Given the description of an element on the screen output the (x, y) to click on. 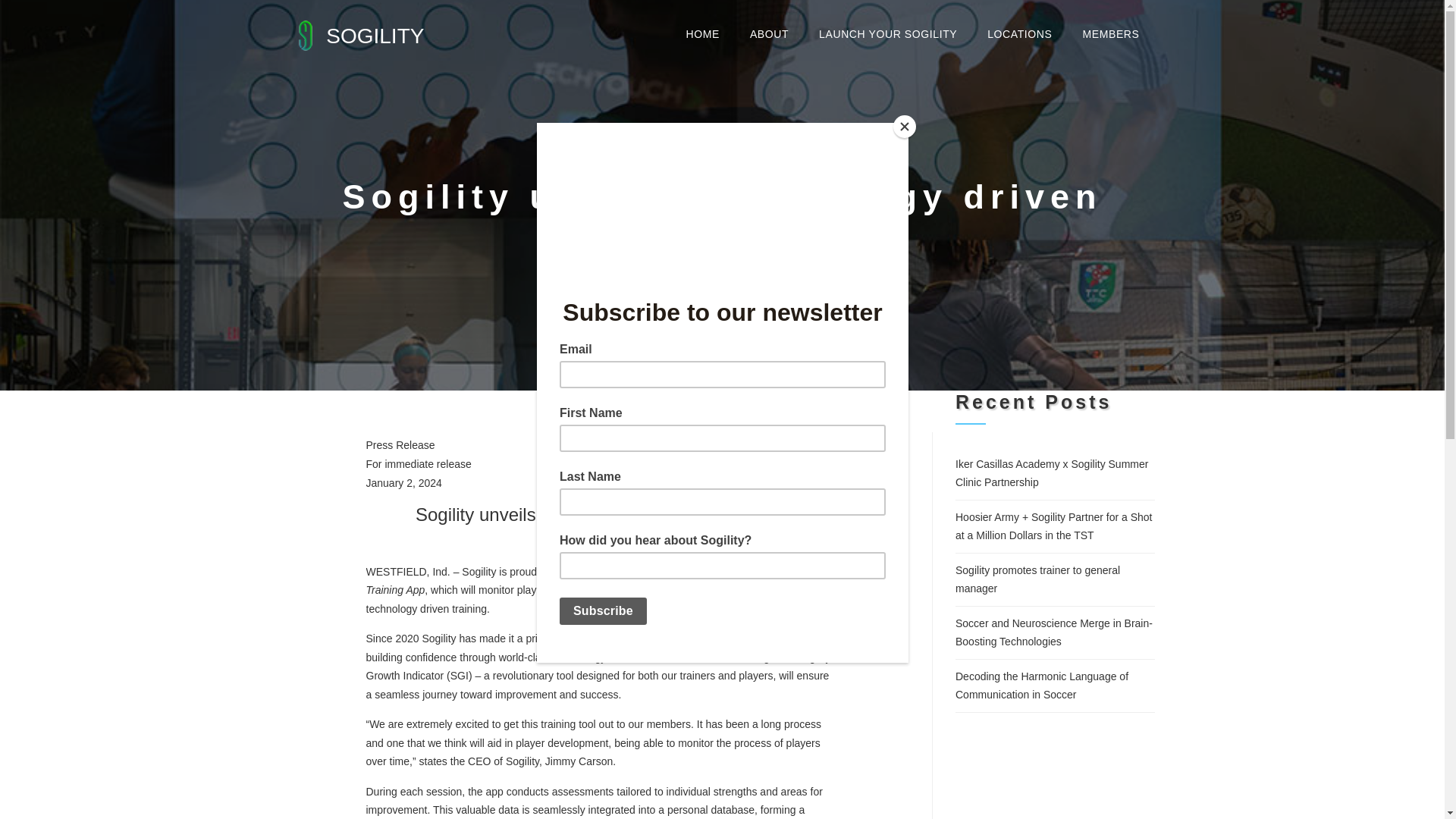
LAUNCH YOUR SOGILITY (887, 33)
ABOUT (769, 33)
HOME (701, 33)
LOCATIONS (1019, 33)
SOGILITY (356, 33)
MEMBERS (1110, 33)
Sogility (356, 33)
